Given the description of an element on the screen output the (x, y) to click on. 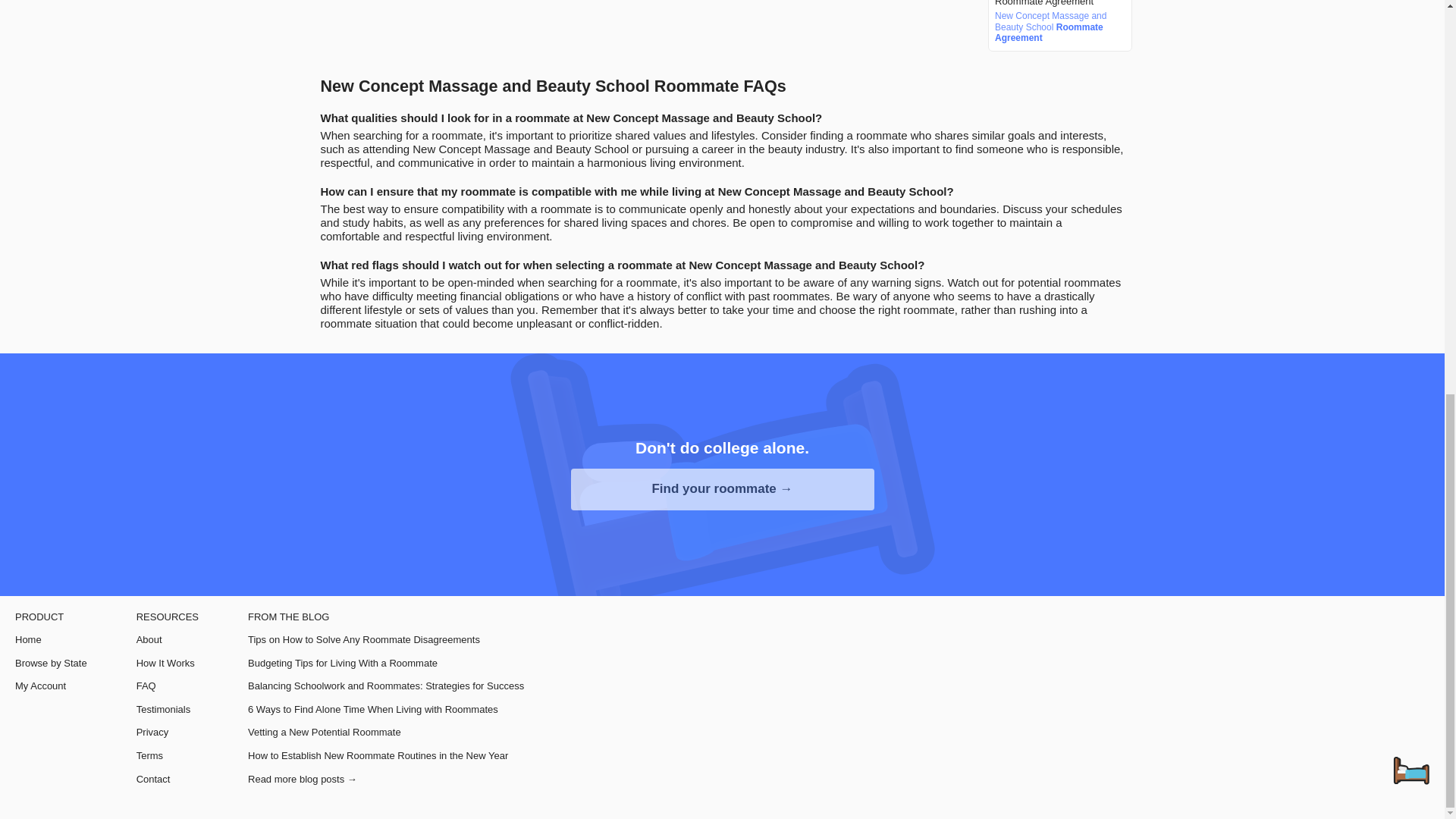
Browse by State (50, 663)
Testimonials (167, 709)
New Concept Massage and Beauty School Roommate Agreement (1057, 26)
Privacy (167, 732)
Home (50, 639)
FAQ (167, 686)
About (167, 639)
My Account (50, 686)
How It Works (167, 663)
